Given the description of an element on the screen output the (x, y) to click on. 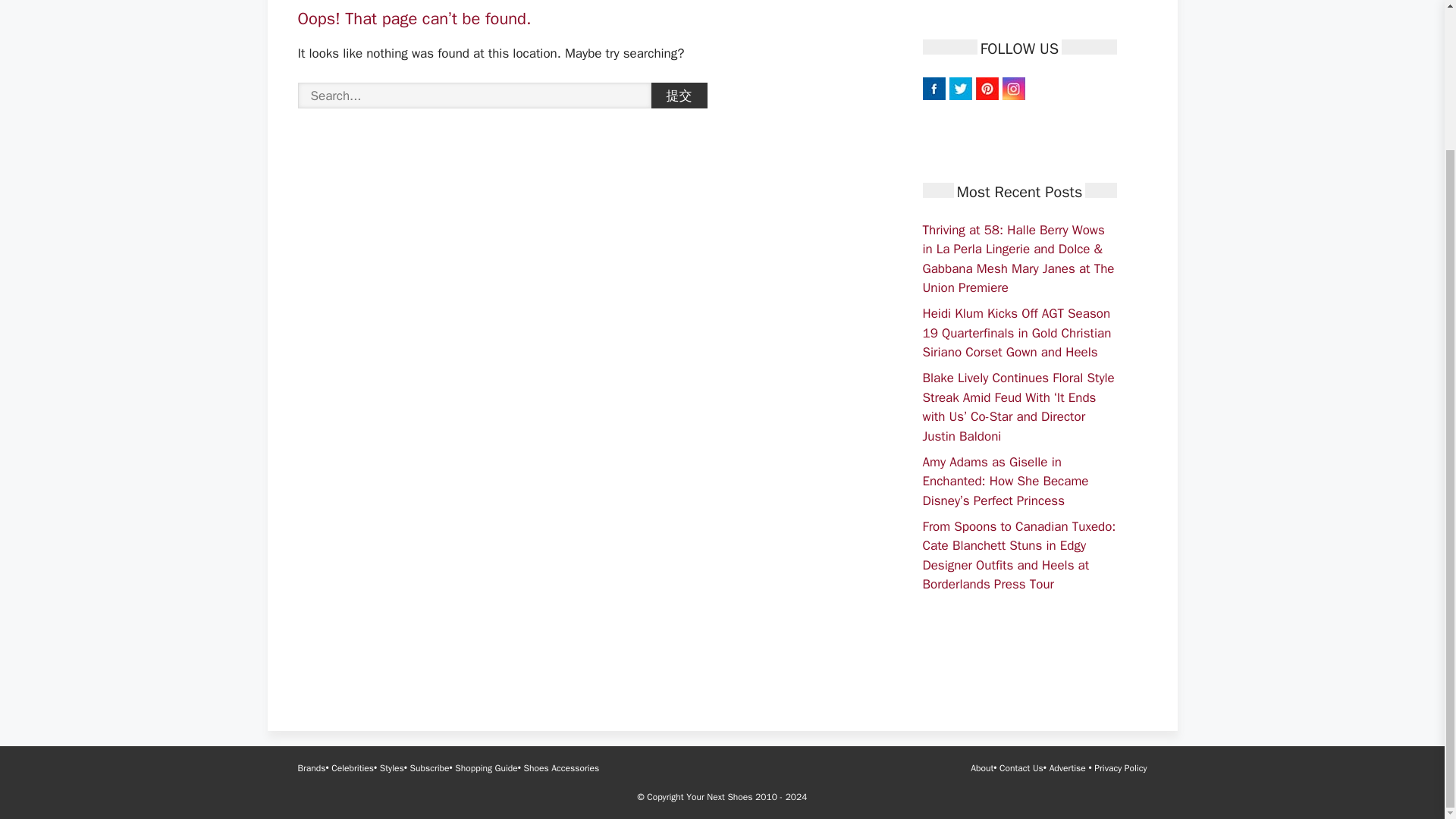
Twitter (960, 87)
Facebook (932, 87)
Styles (392, 767)
Pinterest (986, 87)
Brands (310, 767)
Subscribe (429, 767)
Celebrities (352, 767)
Instagram (1014, 87)
